Given the description of an element on the screen output the (x, y) to click on. 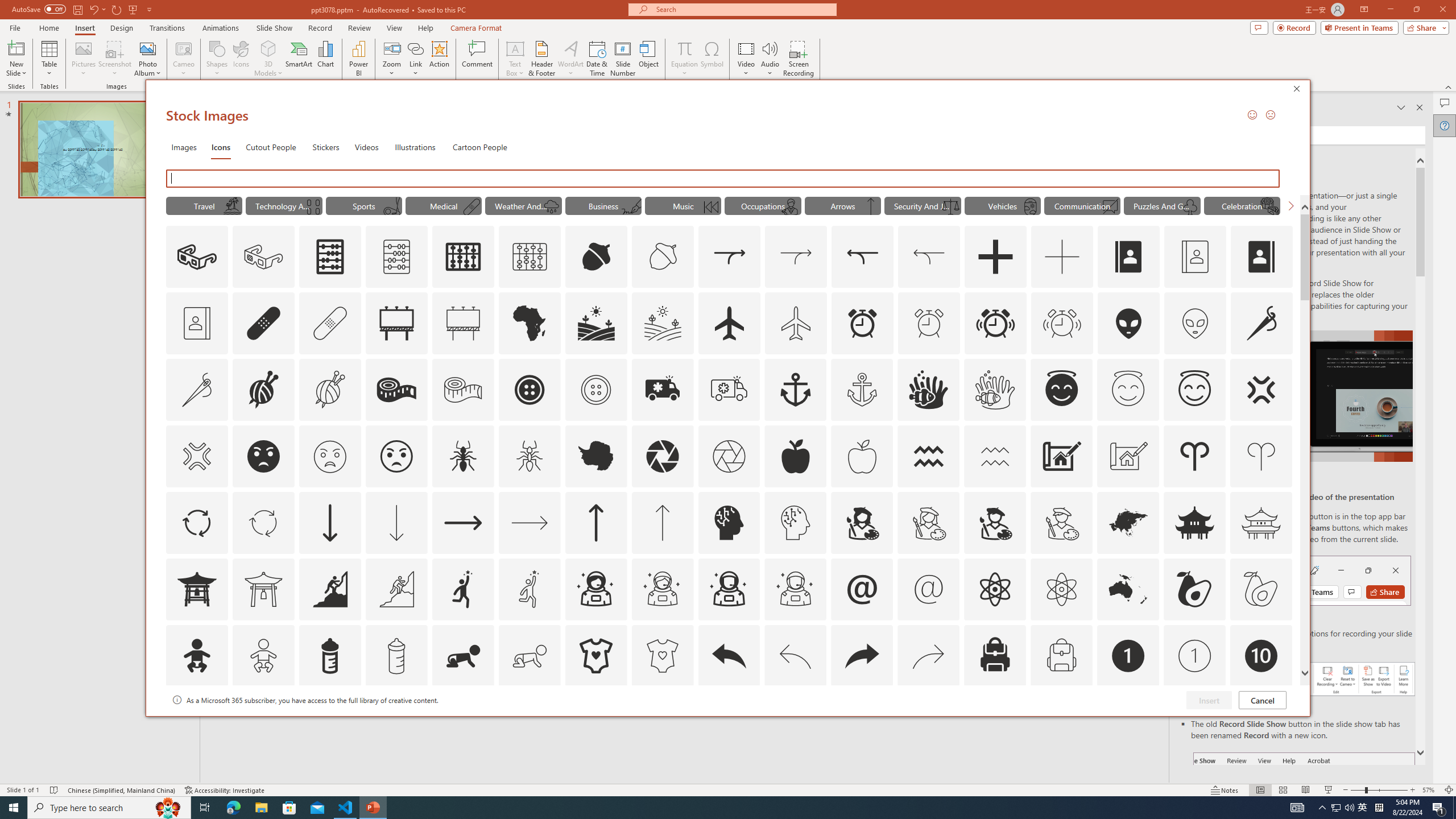
AutomationID: Icons_Back_LTR_M (795, 655)
AutomationID: Icons_Aperture_M (729, 455)
"Travel" Icons. (203, 205)
AutomationID: Icons_Badge6 (795, 721)
AutomationID: Icons_AngerSymbol (1260, 389)
Video (745, 58)
AutomationID: Icons_AstronautFemale (595, 588)
AutomationID: Icons_Beginning_M (710, 206)
AutomationID: Icons_Ant_M (529, 455)
AutomationID: Icons_AstronautMale (729, 588)
